Given the description of an element on the screen output the (x, y) to click on. 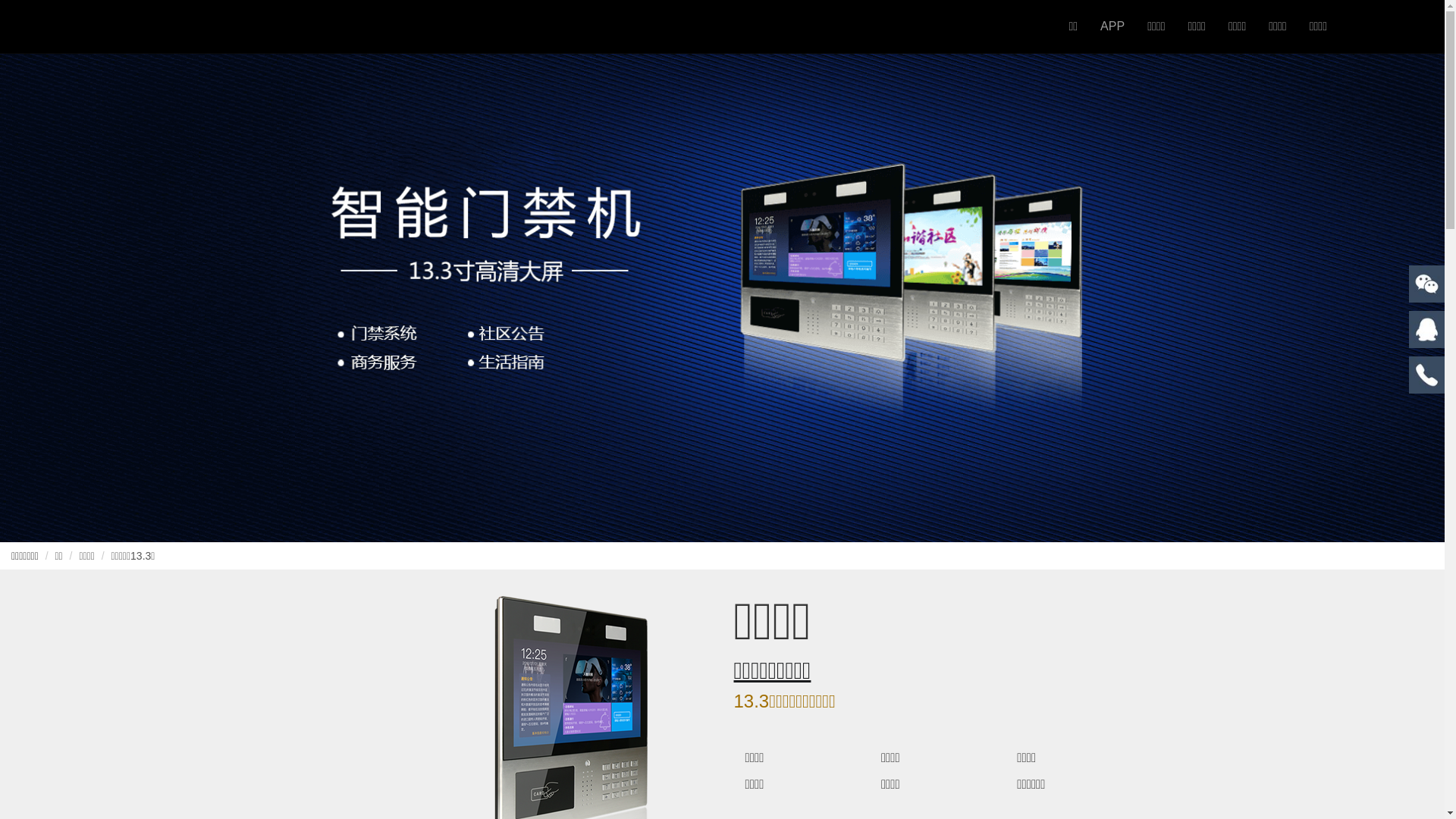
APP Element type: text (1111, 26)
